Given the description of an element on the screen output the (x, y) to click on. 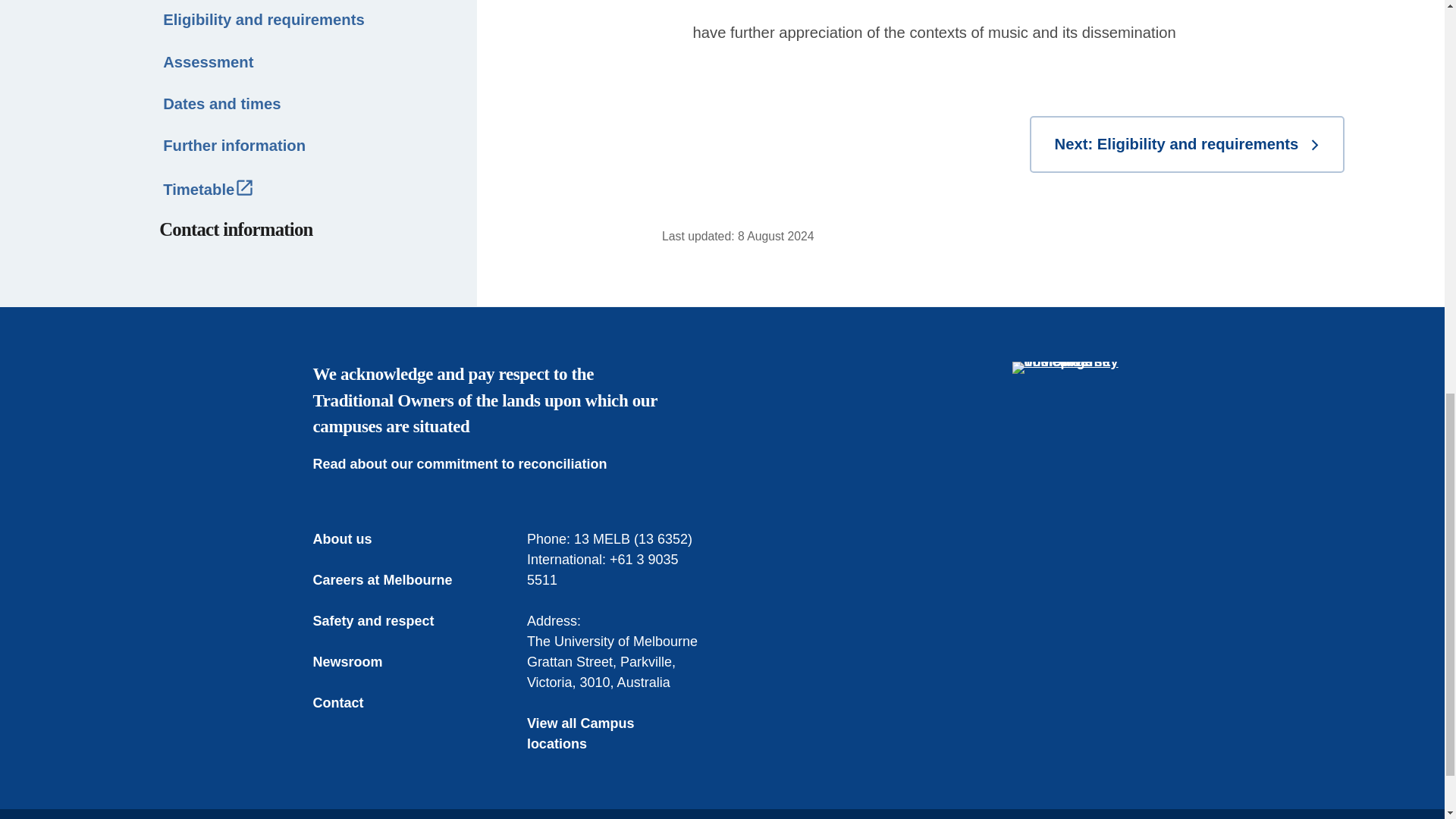
Newsroom (358, 661)
Next: Eligibility and requirements (1186, 144)
View all Campus locations (615, 733)
Read about our commitment to reconciliation (470, 464)
Careers at Melbourne (393, 580)
Contact (349, 702)
Safety and respect (384, 620)
About us (353, 539)
